Given the description of an element on the screen output the (x, y) to click on. 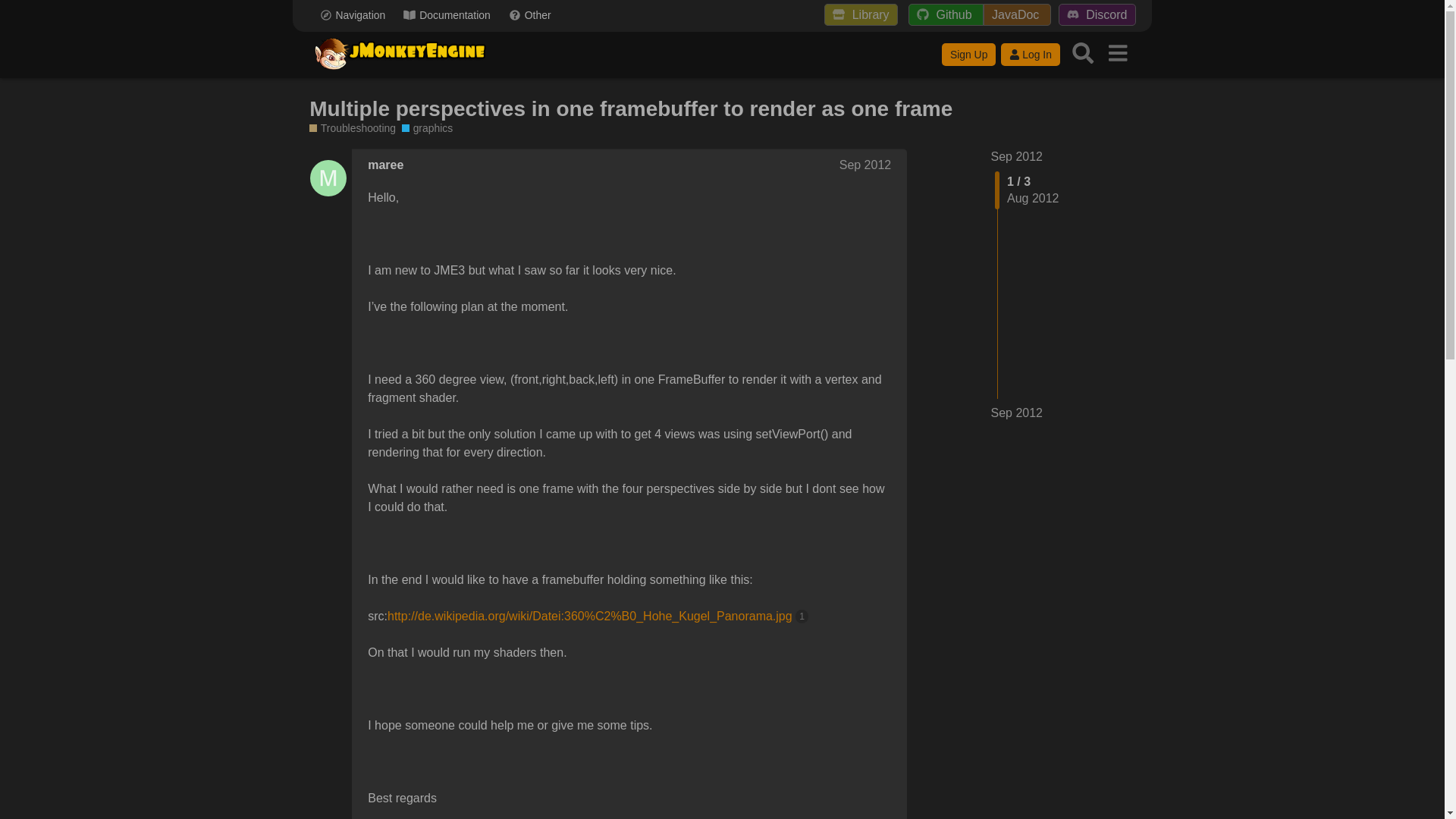
maree (385, 165)
Other useful links (529, 15)
Graphical related problems (426, 128)
Troubleshooting (352, 128)
Discord (1096, 14)
Read our Documentation (446, 15)
JavaDoc (1017, 14)
Library (860, 14)
graphics (426, 128)
Other (529, 15)
Sep 2012 (1016, 412)
Sep 2012 (1016, 155)
Log In (1030, 54)
Github (946, 14)
